Given the description of an element on the screen output the (x, y) to click on. 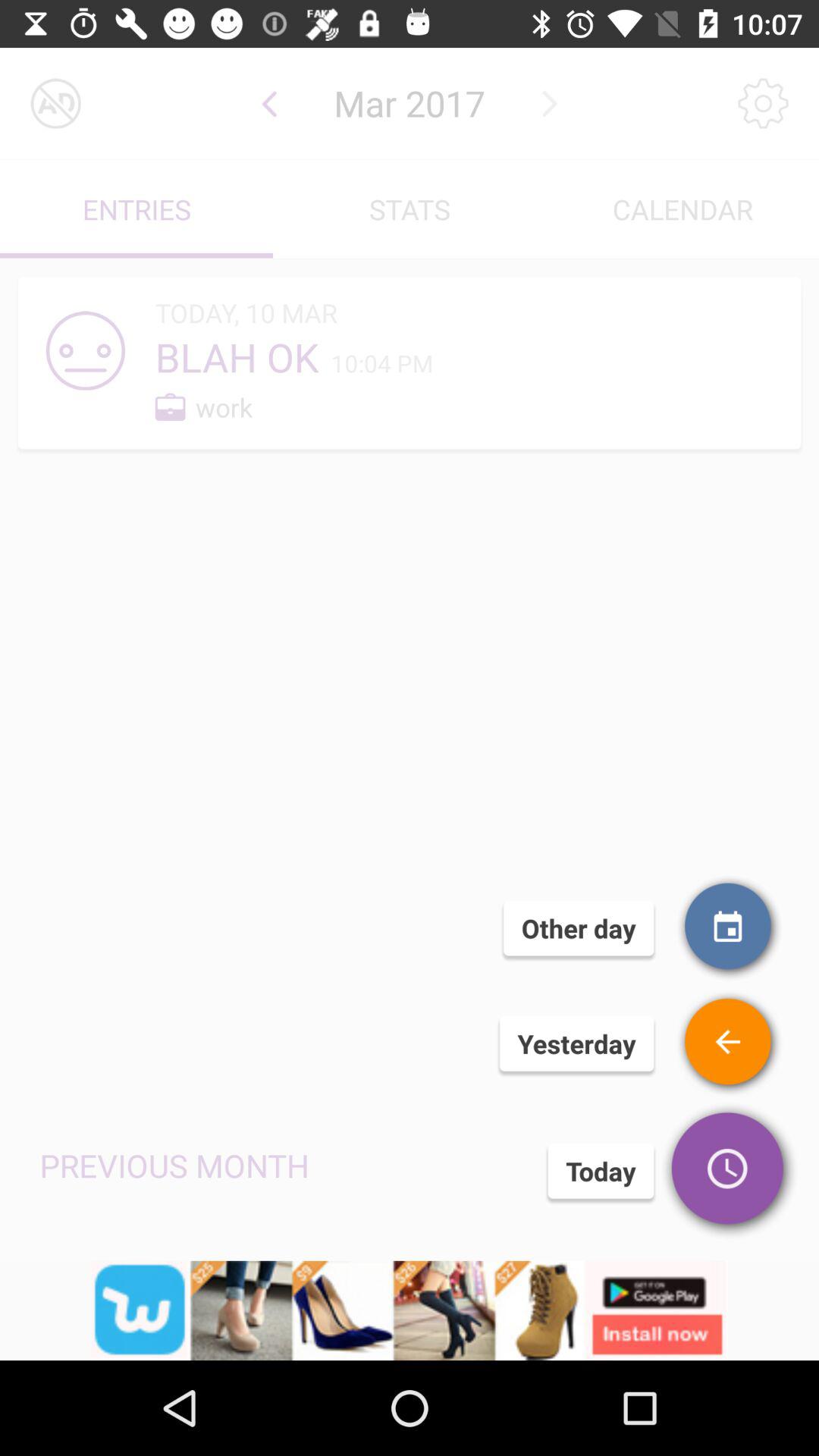
select advertisement (409, 1310)
